Given the description of an element on the screen output the (x, y) to click on. 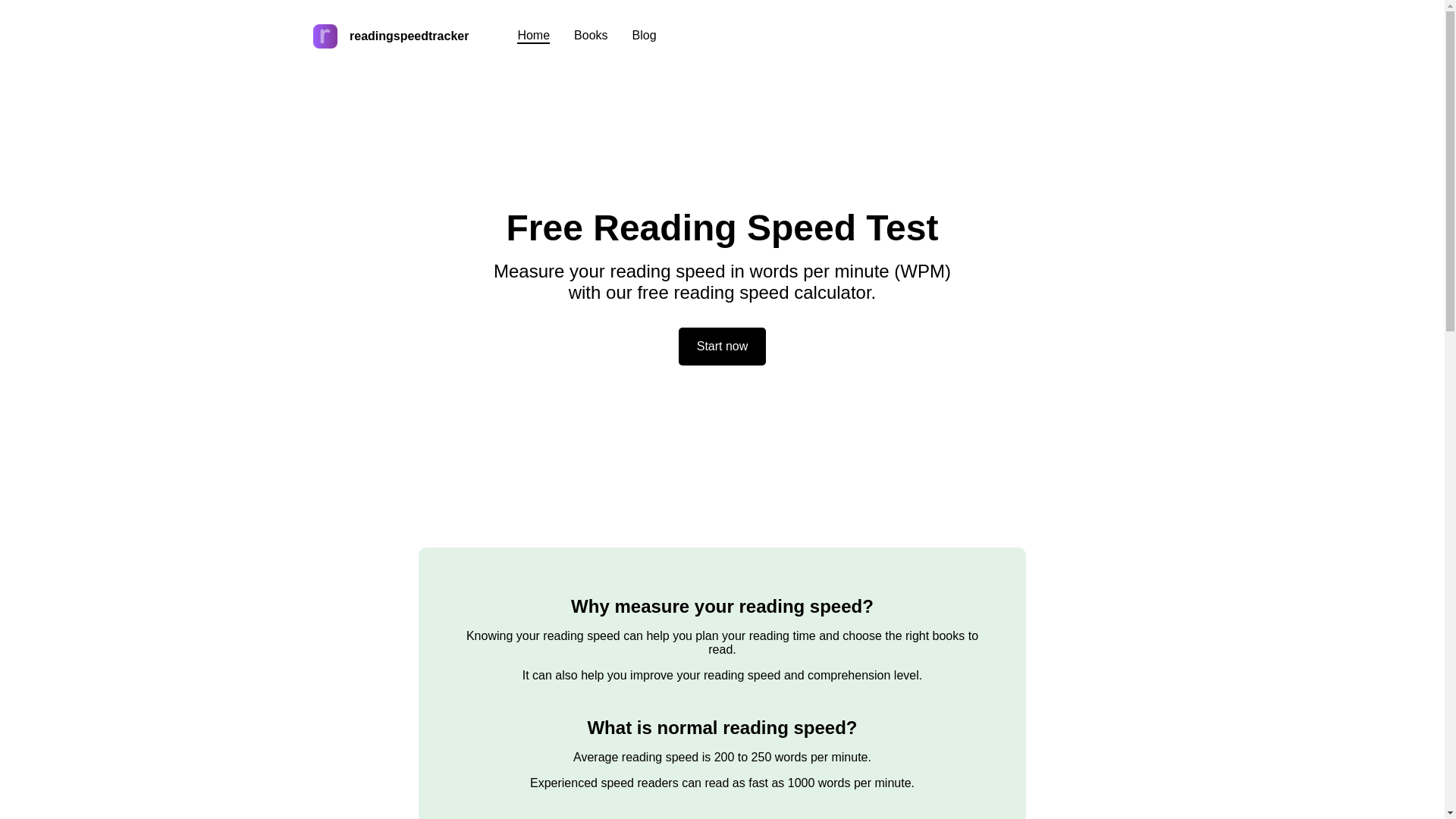
Home (533, 36)
Books (590, 36)
Blog (643, 36)
Start now (722, 346)
readingspeedtracker (390, 36)
